Given the description of an element on the screen output the (x, y) to click on. 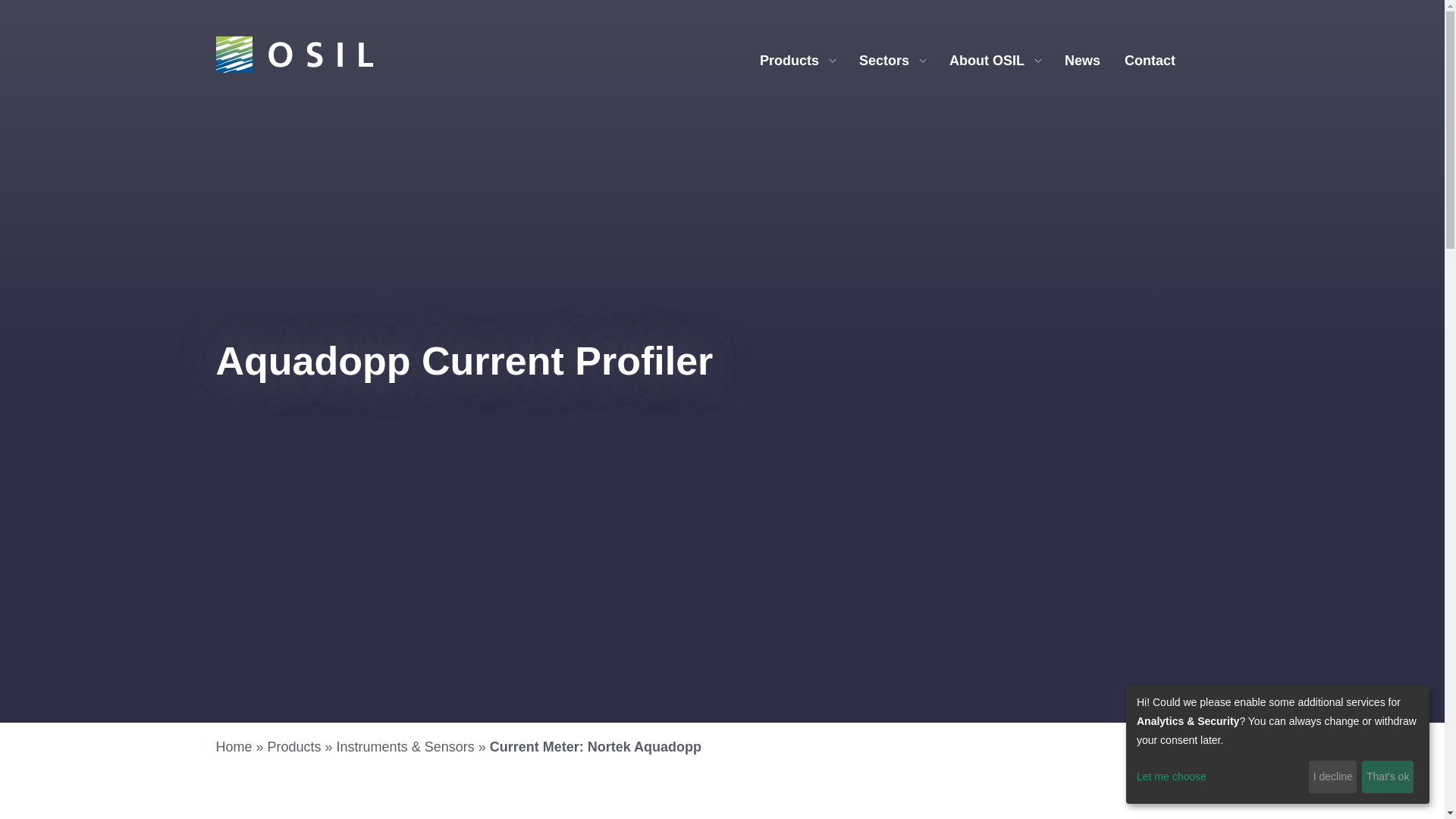
Contact (1149, 60)
Products (294, 745)
News (1082, 60)
Sectors (891, 60)
Products (797, 60)
Home (233, 745)
About OSIL (995, 60)
